Given the description of an element on the screen output the (x, y) to click on. 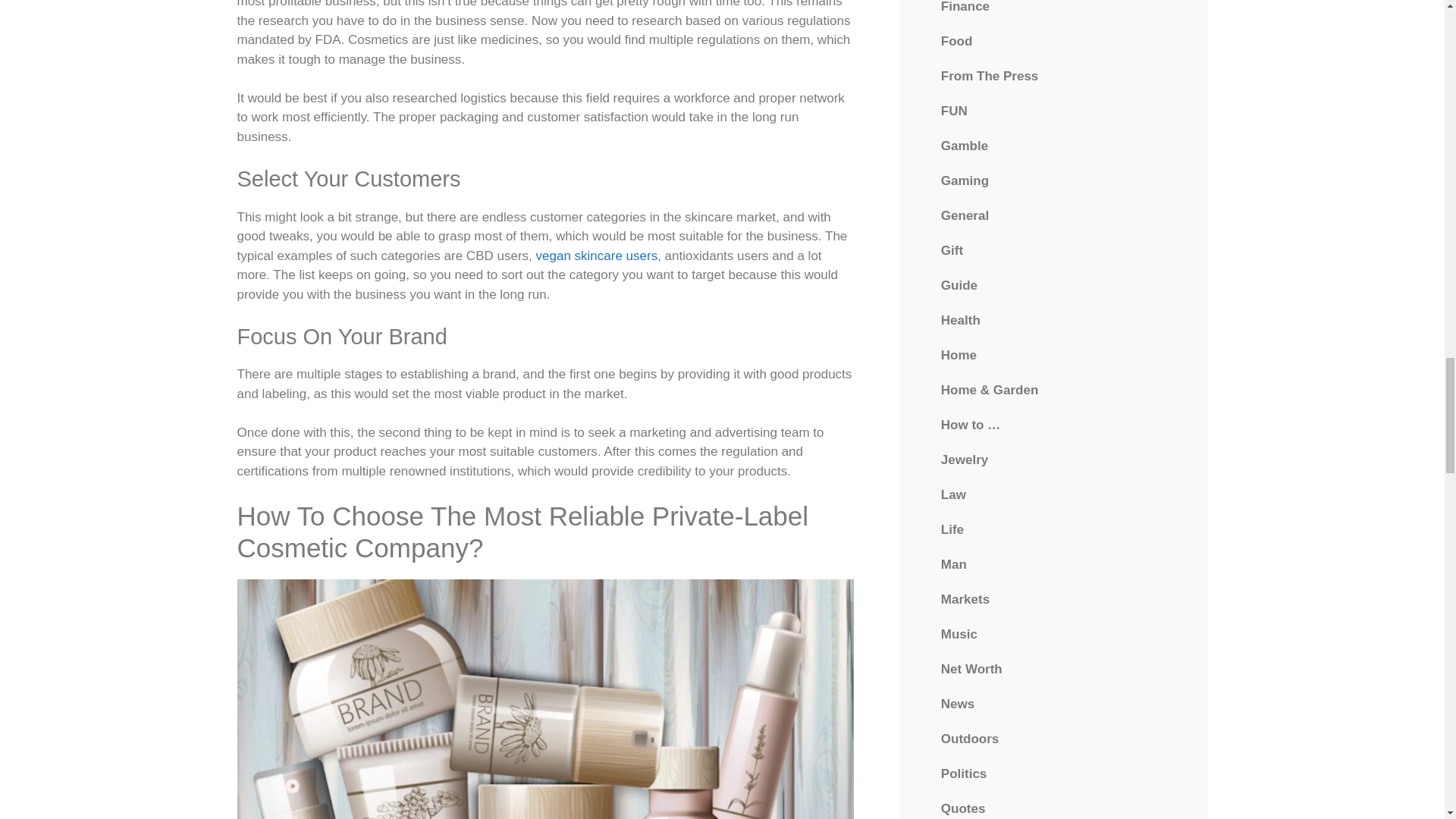
vegan skincare users (596, 255)
